Given the description of an element on the screen output the (x, y) to click on. 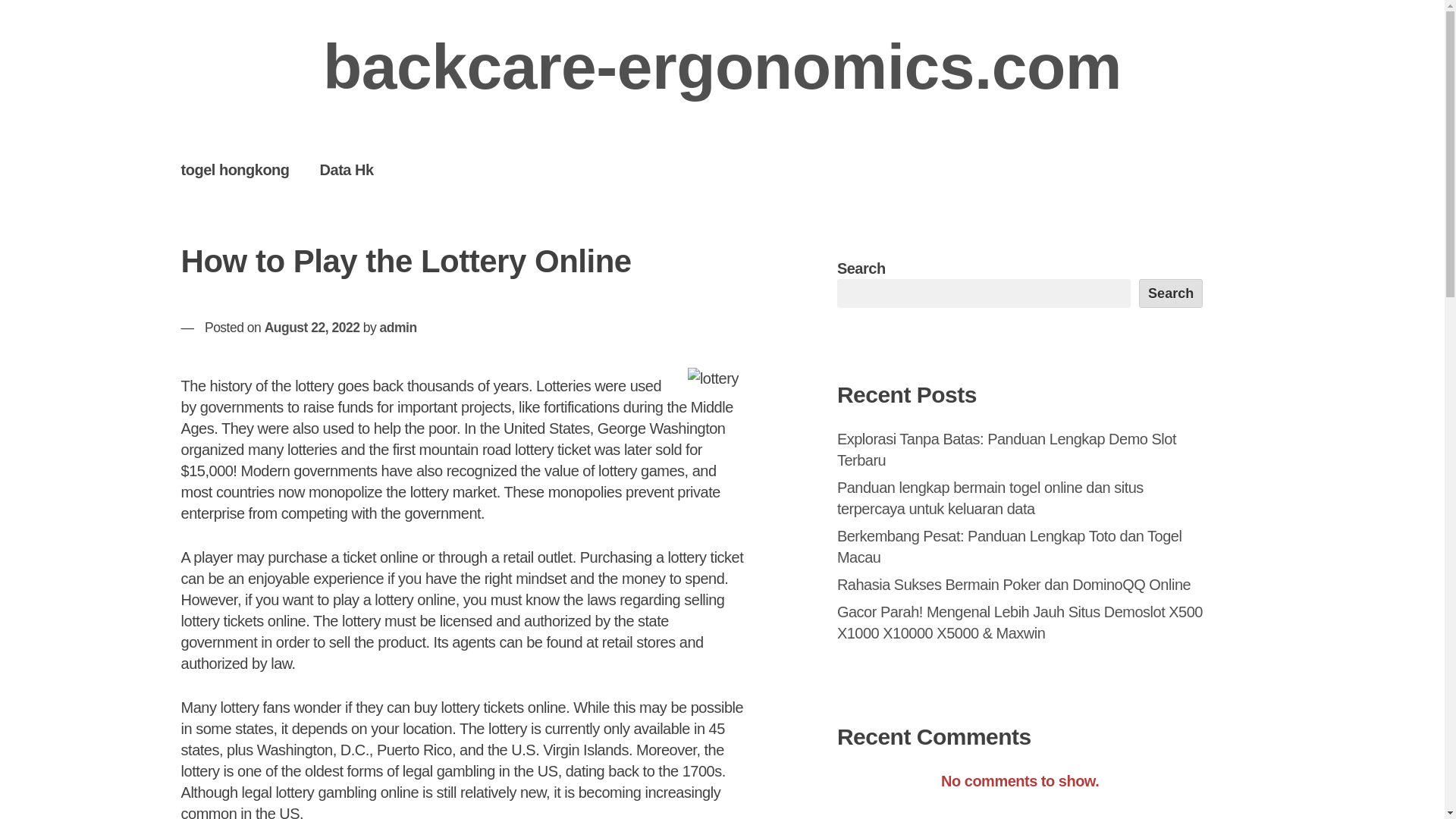
togel hongkong (234, 169)
Search (1171, 293)
admin (398, 327)
Berkembang Pesat: Panduan Lengkap Toto dan Togel Macau (1009, 546)
Data Hk (346, 169)
Explorasi Tanpa Batas: Panduan Lengkap Demo Slot Terbaru (1006, 449)
August 22, 2022 (311, 327)
Rahasia Sukses Bermain Poker dan DominoQQ Online (1014, 584)
backcare-ergonomics.com (722, 66)
